Given the description of an element on the screen output the (x, y) to click on. 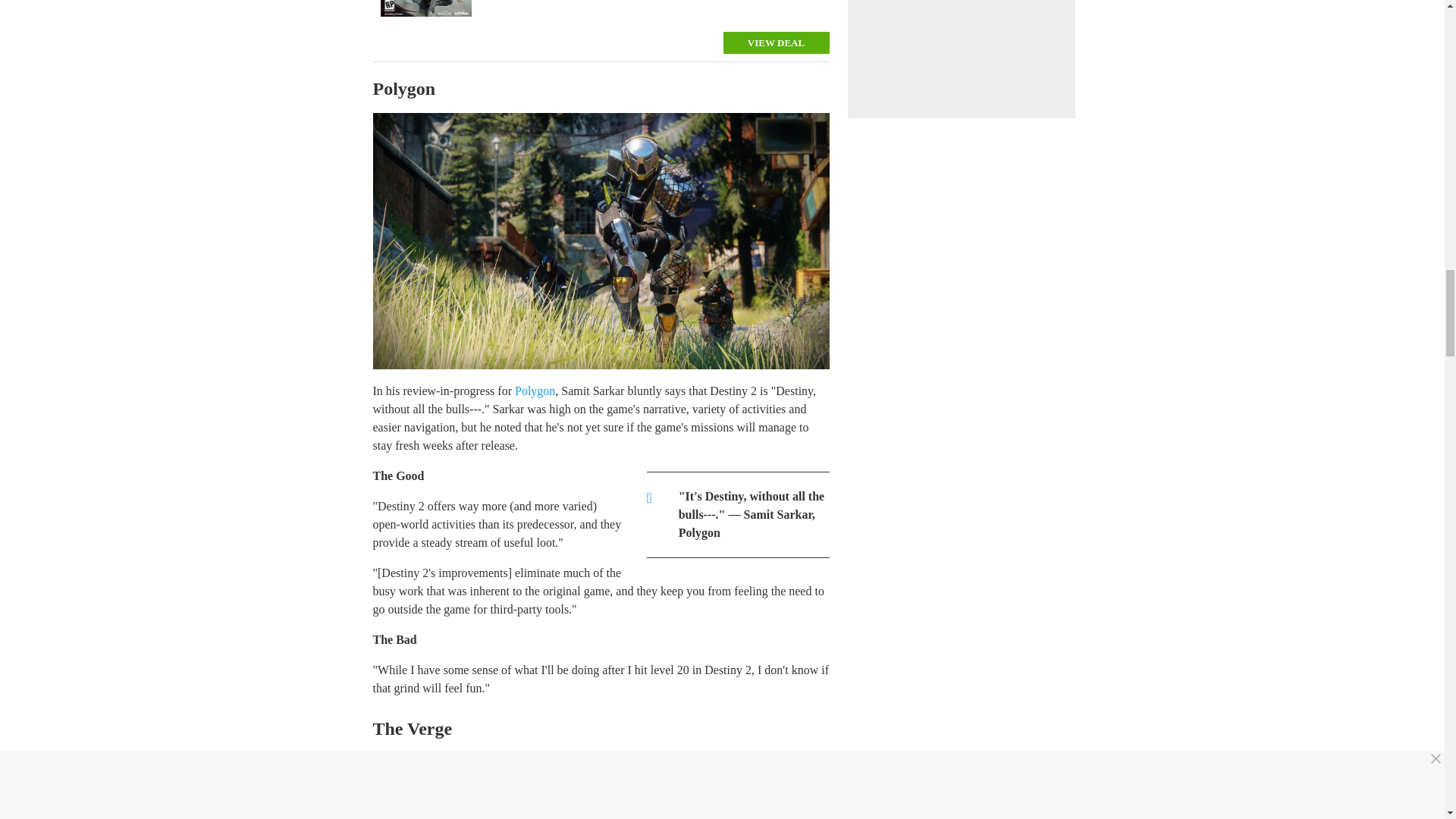
Image (425, 8)
